Given the description of an element on the screen output the (x, y) to click on. 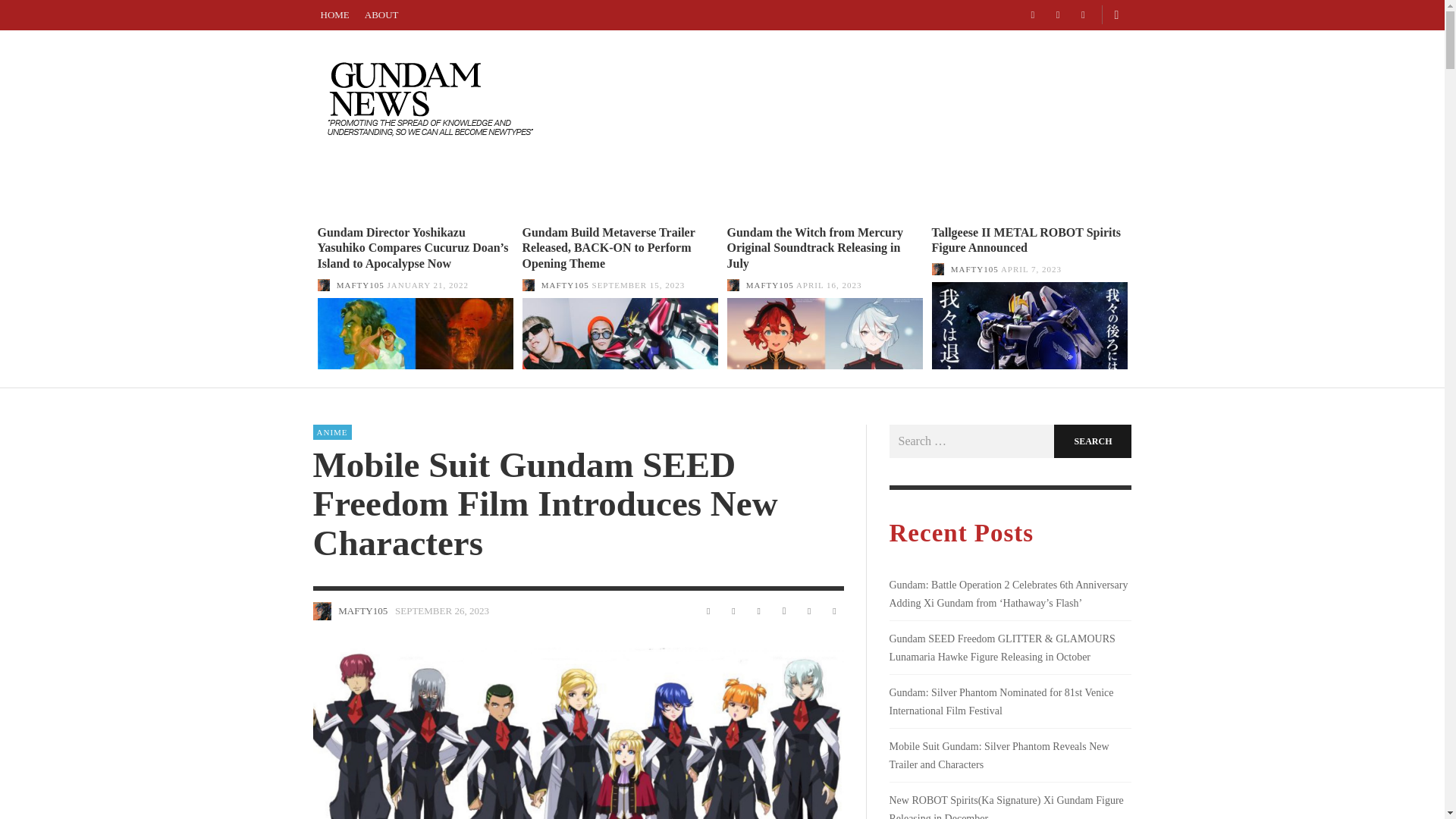
Tallgeese II METAL ROBOT Spirits Figure Announced (1026, 240)
Search (1092, 441)
MAFTY105 (769, 284)
JANUARY 21, 2022 (427, 284)
ABOUT (751, 187)
HOME (689, 187)
MAFTY105 (565, 284)
APRIL 16, 2023 (828, 284)
